Given the description of an element on the screen output the (x, y) to click on. 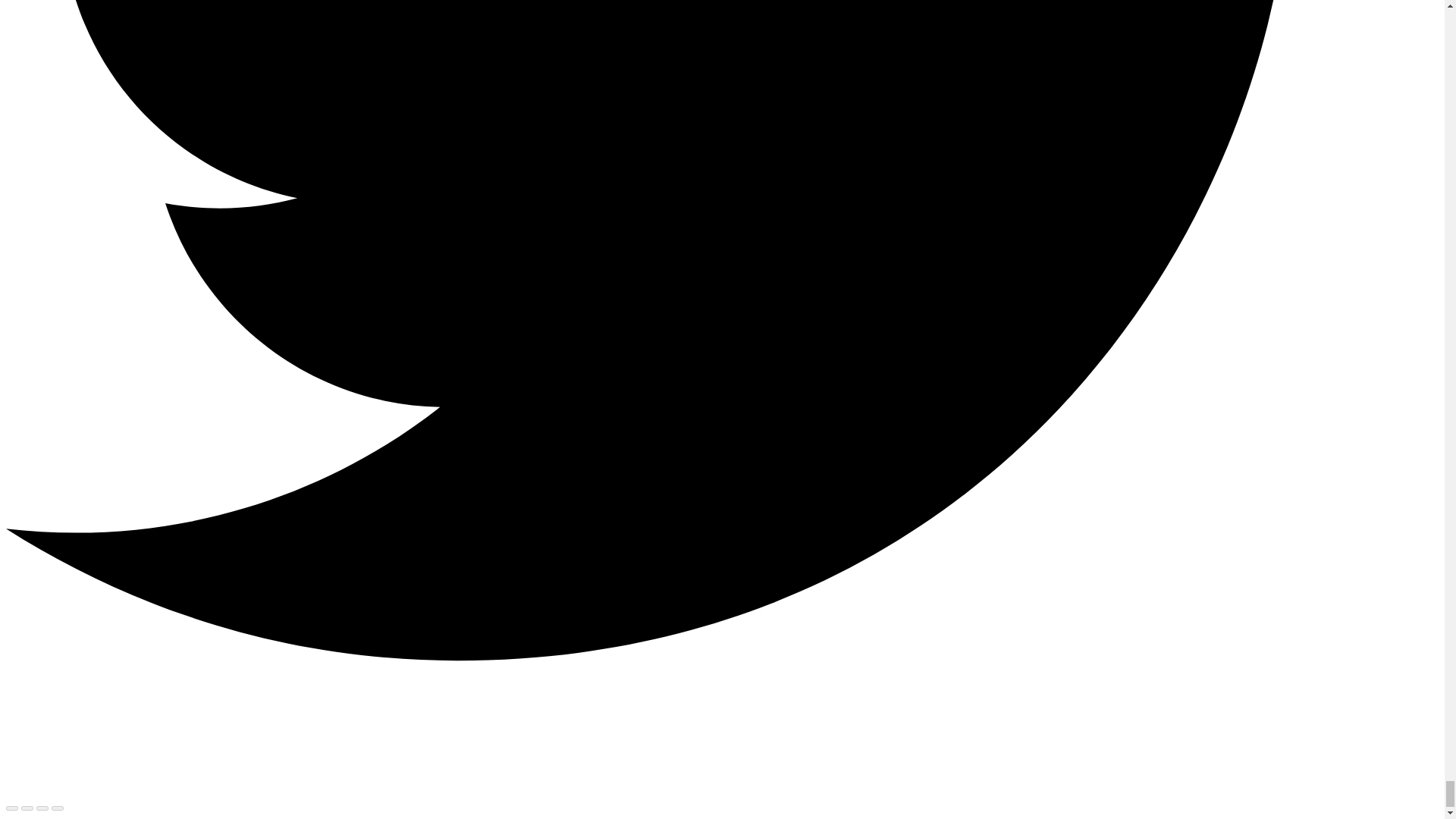
Share (27, 807)
Toggle fullscreen (42, 807)
